Given the description of an element on the screen output the (x, y) to click on. 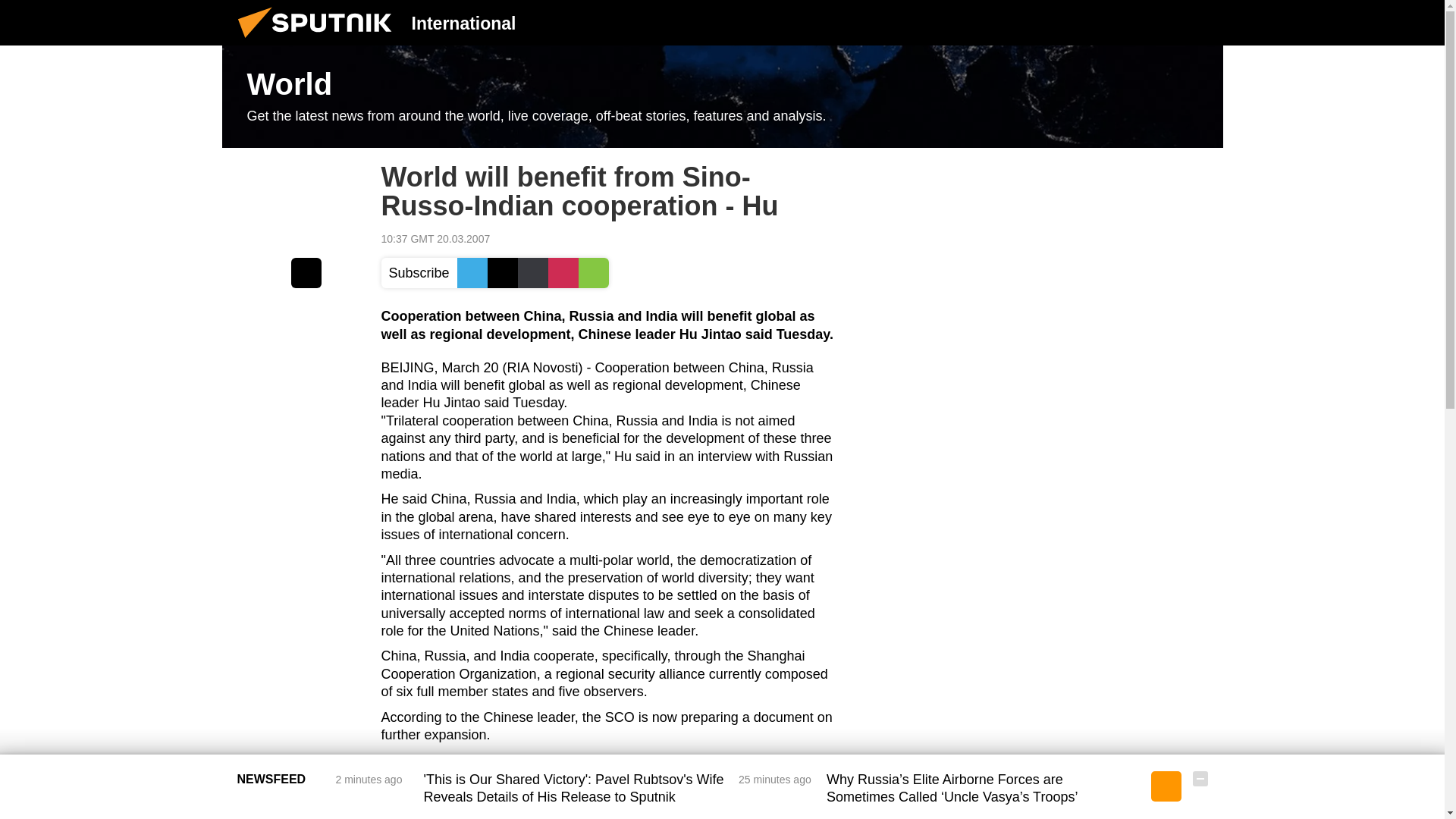
Chats (1199, 22)
Sputnik International (319, 41)
Authorization (1123, 22)
World (722, 96)
